Given the description of an element on the screen output the (x, y) to click on. 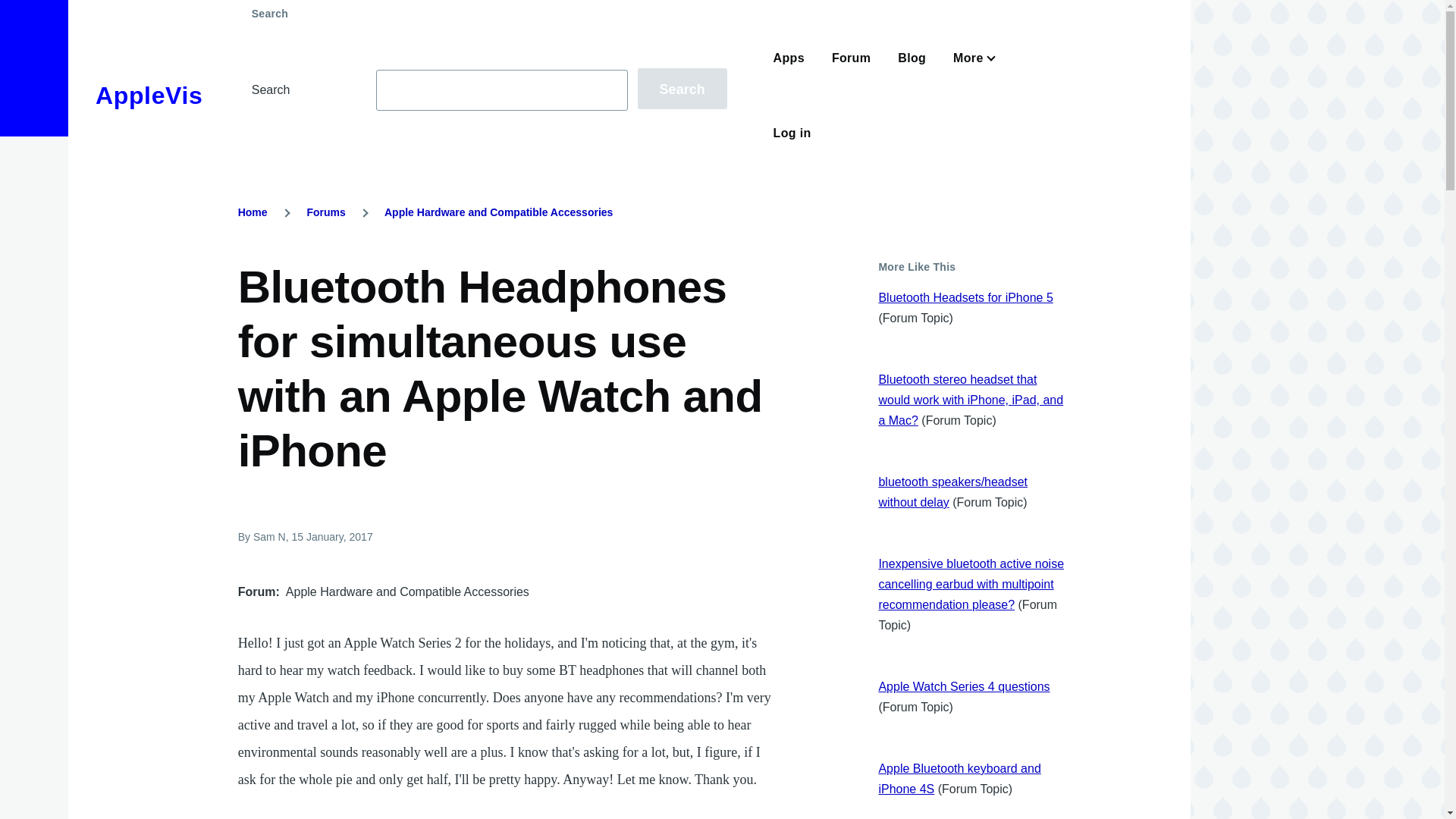
AppleVis (149, 94)
Home (149, 94)
Search (681, 87)
Skip to main content (595, 6)
Bluetooth Headsets for iPhone 5 (964, 297)
Forums (325, 212)
Apple Watch Series 4 questions (963, 686)
Home (252, 212)
